Given the description of an element on the screen output the (x, y) to click on. 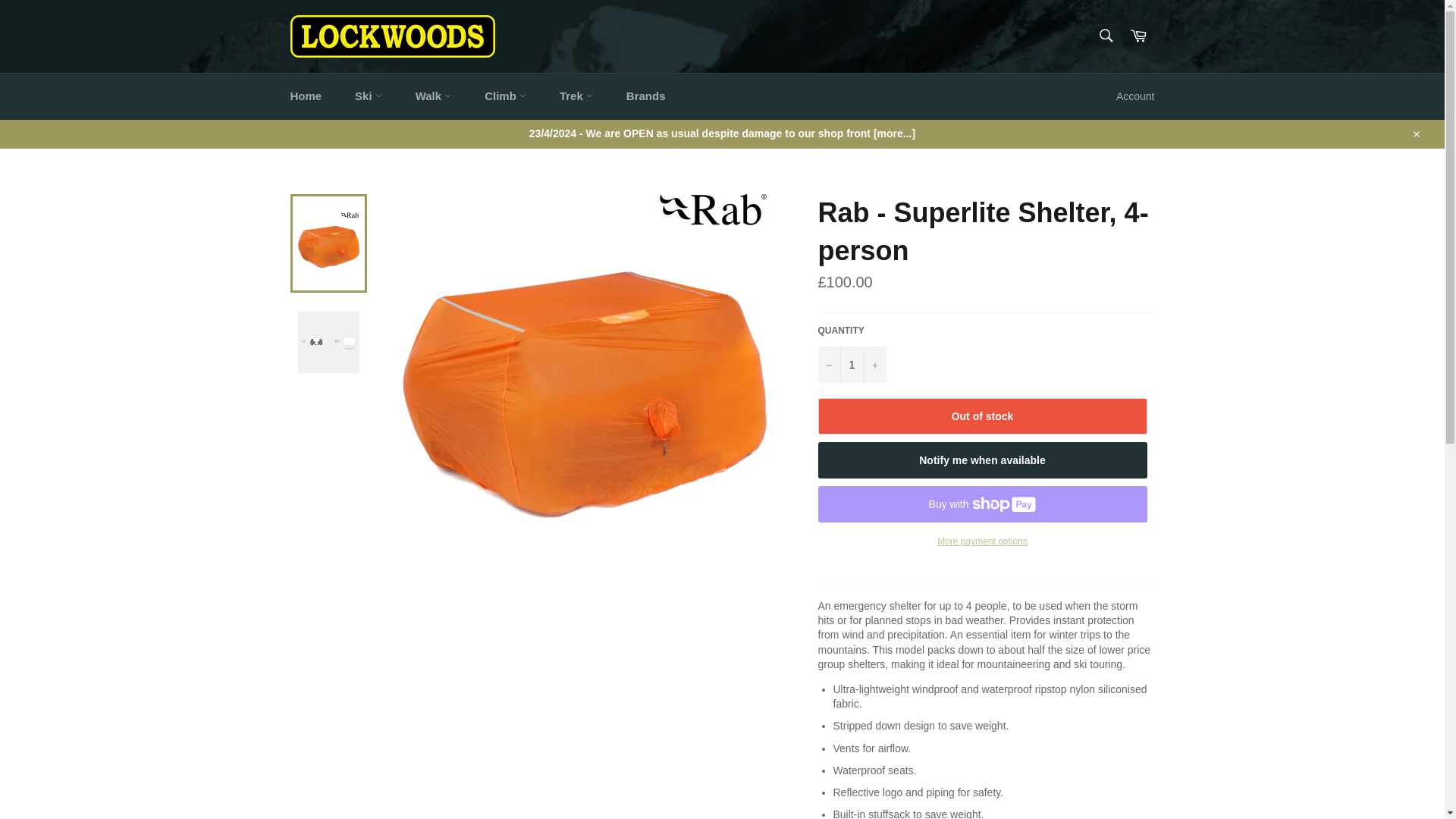
1 (850, 364)
